Given the description of an element on the screen output the (x, y) to click on. 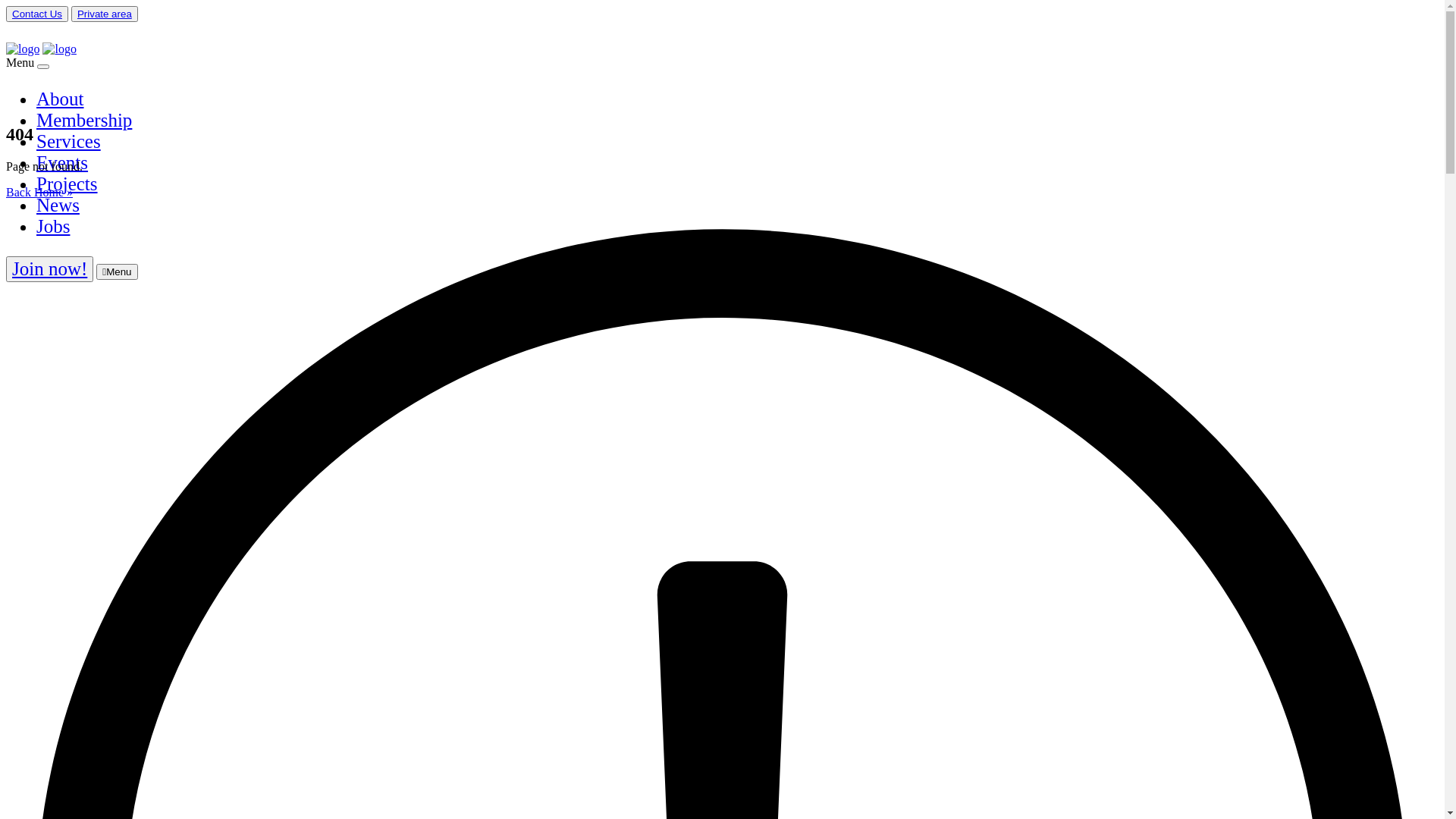
Join now! Element type: text (49, 269)
Contact Us Element type: text (37, 13)
News Element type: text (57, 204)
Jobs Element type: text (52, 226)
Services Element type: text (68, 141)
Projects Element type: text (66, 183)
Events Element type: text (61, 162)
Menu Element type: text (116, 271)
Private area Element type: text (104, 13)
Contact Us Element type: text (37, 13)
Private area Element type: text (104, 13)
Join now! Element type: text (49, 268)
Membership Element type: text (83, 119)
About Element type: text (60, 98)
